Given the description of an element on the screen output the (x, y) to click on. 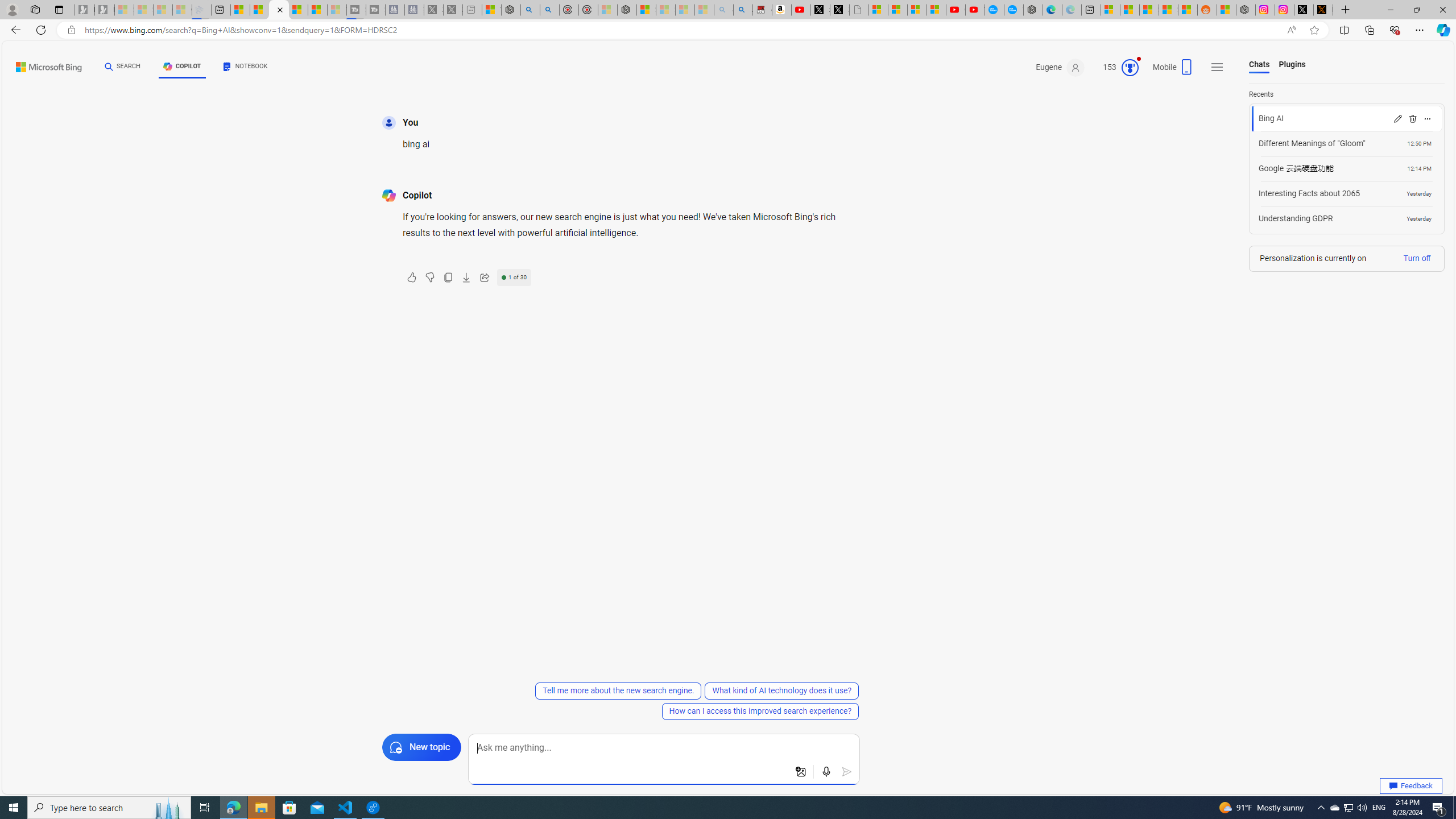
Like (411, 277)
COPILOT (181, 66)
How can I access this improved search experience? (760, 710)
NOTEBOOK (245, 66)
Chat (109, 65)
Skip to content (36, 63)
What kind of AI technology does it use? (780, 690)
Turn off (1416, 258)
amazon - Search - Sleeping (723, 9)
